Given the description of an element on the screen output the (x, y) to click on. 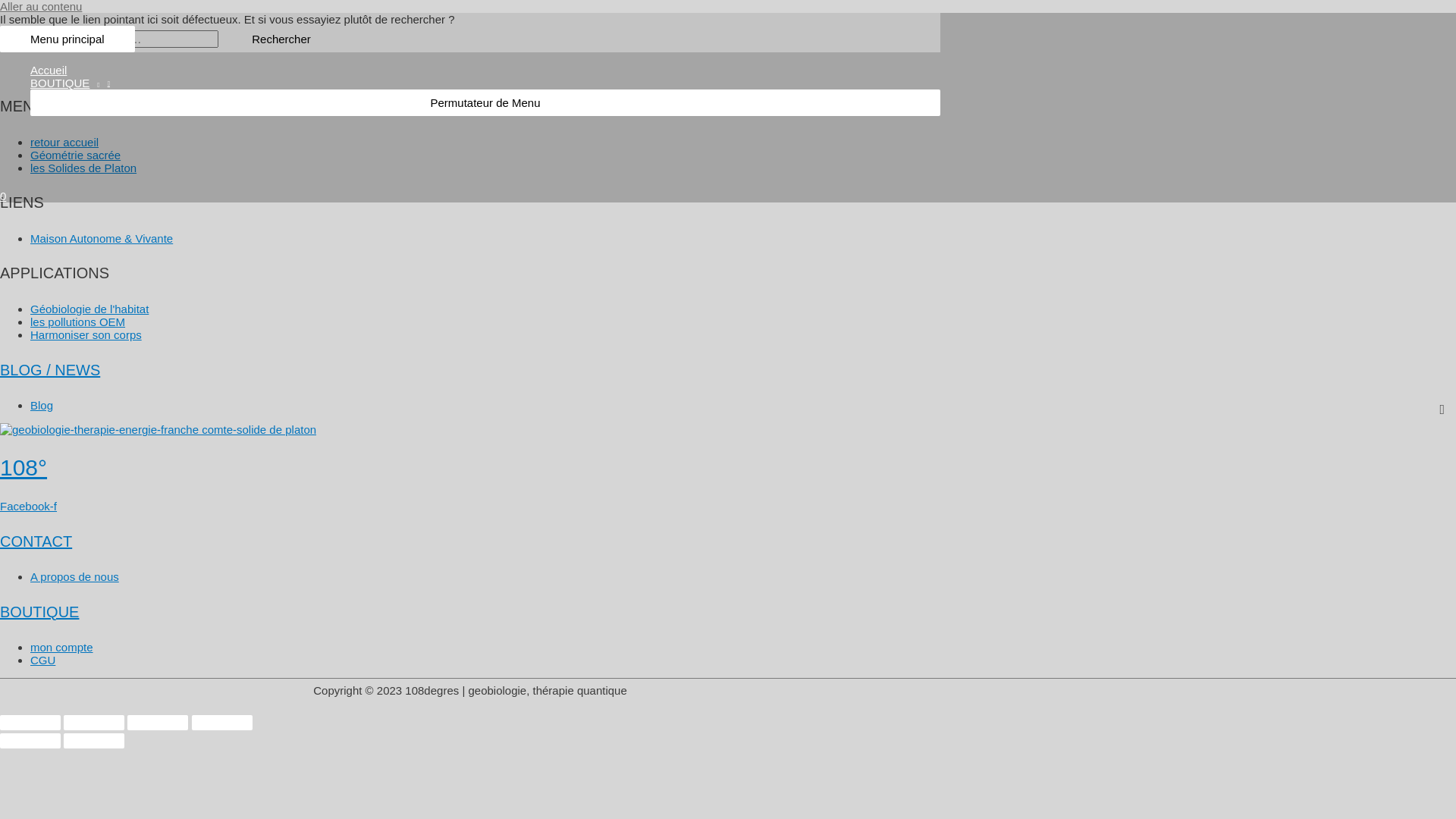
les Solides de Platon Element type: text (83, 167)
CGU Element type: text (42, 659)
Accueil Element type: text (485, 69)
Maison Autonome & Vivante Element type: text (101, 238)
Aller au contenu Element type: text (40, 6)
Blog Element type: text (41, 404)
BLOG / NEWS Element type: text (50, 369)
0 Element type: text (470, 195)
mon compte Element type: text (61, 646)
Harmoniser son corps Element type: text (85, 334)
Rechercher Element type: text (281, 38)
Menu principal Element type: text (67, 38)
BOUTIQUE Element type: text (39, 611)
A propos de nous Element type: text (74, 576)
retour accueil Element type: text (64, 141)
CONTACT Element type: text (36, 541)
les pollutions OEM Element type: text (77, 321)
Permutateur de Menu Element type: text (485, 102)
BOUTIQUE Element type: text (485, 82)
Facebook-f Element type: text (28, 505)
